Given the description of an element on the screen output the (x, y) to click on. 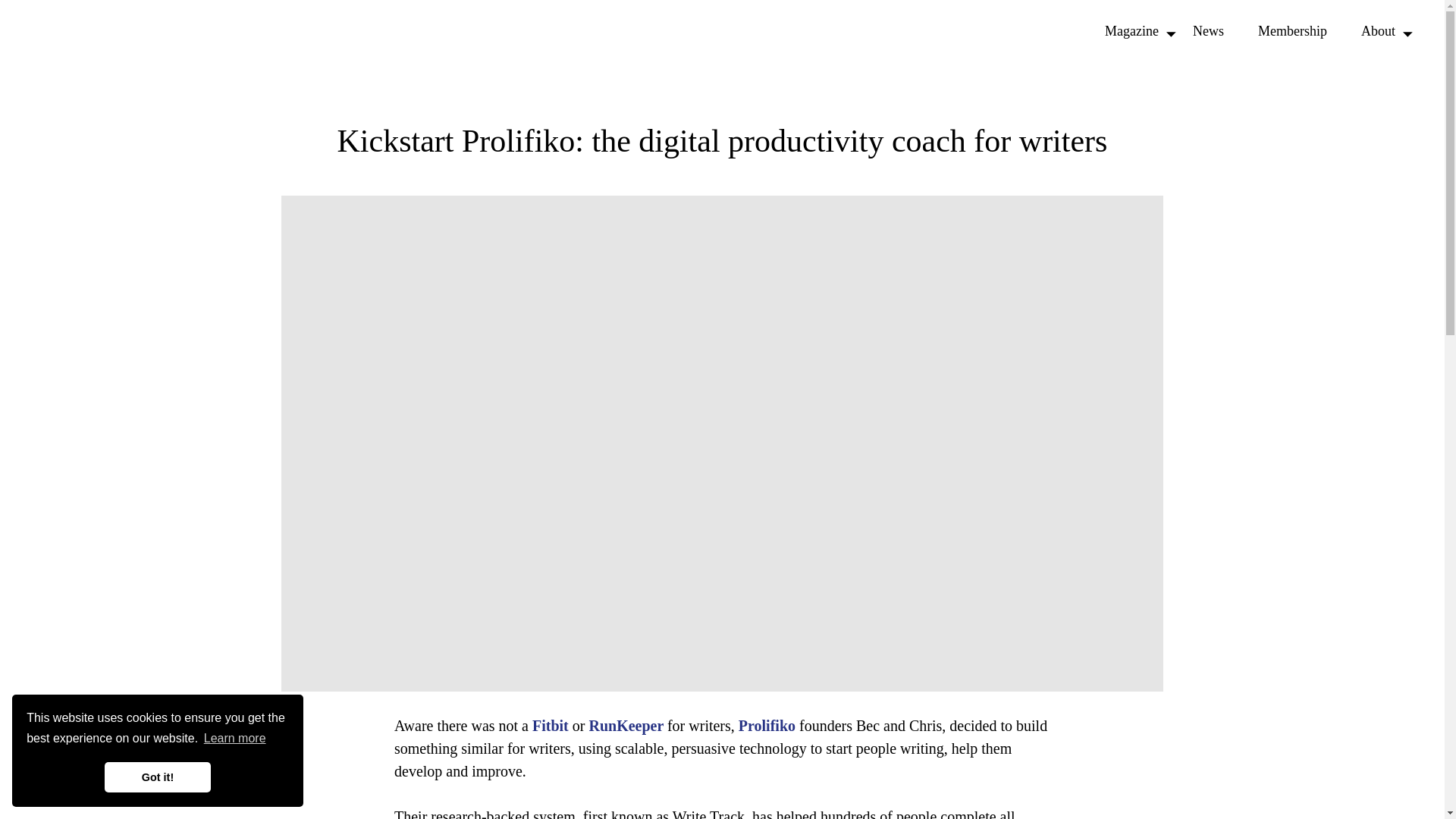
Membership (1292, 32)
About (1377, 32)
Learn more (234, 738)
Magazine (1131, 32)
News (1208, 32)
Fitbit (550, 725)
Prolifiko (766, 725)
RunKeeper (627, 725)
Got it! (157, 777)
